Given the description of an element on the screen output the (x, y) to click on. 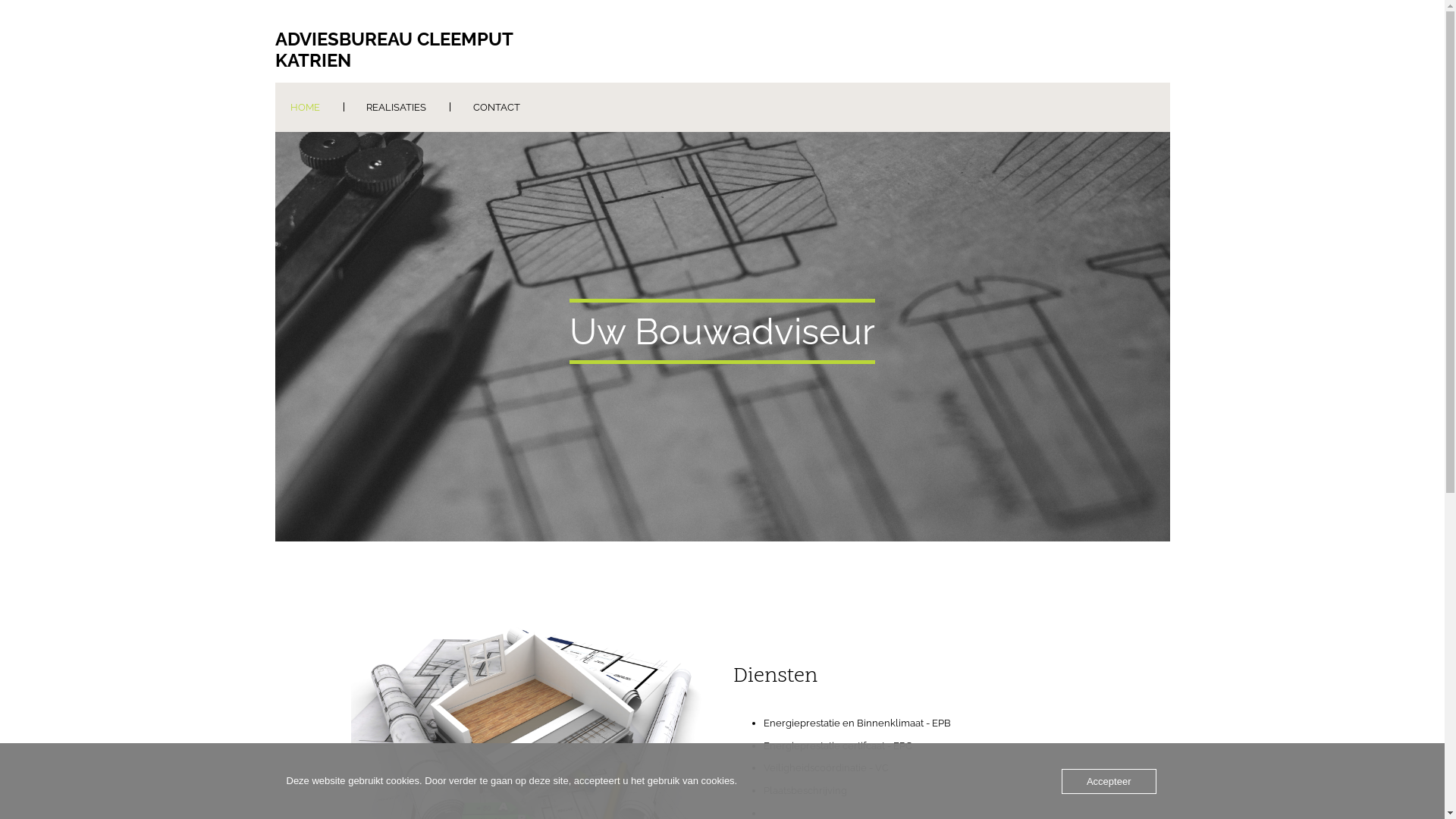
HOME Element type: text (304, 106)
Accepteer Element type: text (1108, 780)
CONTACT Element type: text (496, 106)
ADVIESBUREAU CLEEMPUT KATRIEN Element type: text (415, 49)
REALISATIES Element type: text (396, 106)
